Given the description of an element on the screen output the (x, y) to click on. 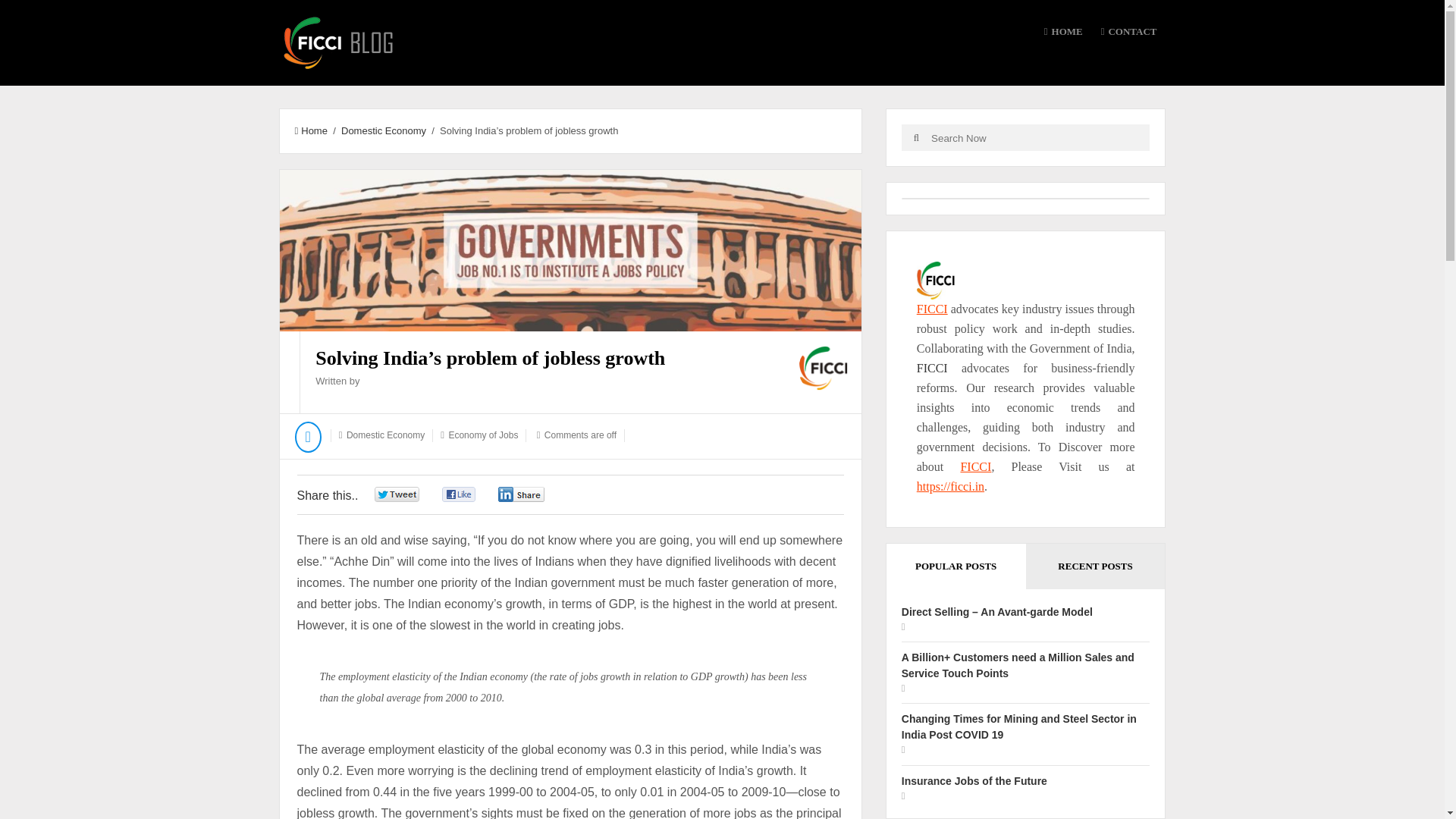
RECENT POSTS (1096, 565)
Economy of Jobs (483, 434)
Be the first one to tweet this article! (412, 494)
POPULAR POSTS (956, 565)
Domestic Economy (385, 434)
Home (310, 130)
HOME (1063, 31)
FICCI (932, 308)
Domestic Economy (383, 130)
